Given the description of an element on the screen output the (x, y) to click on. 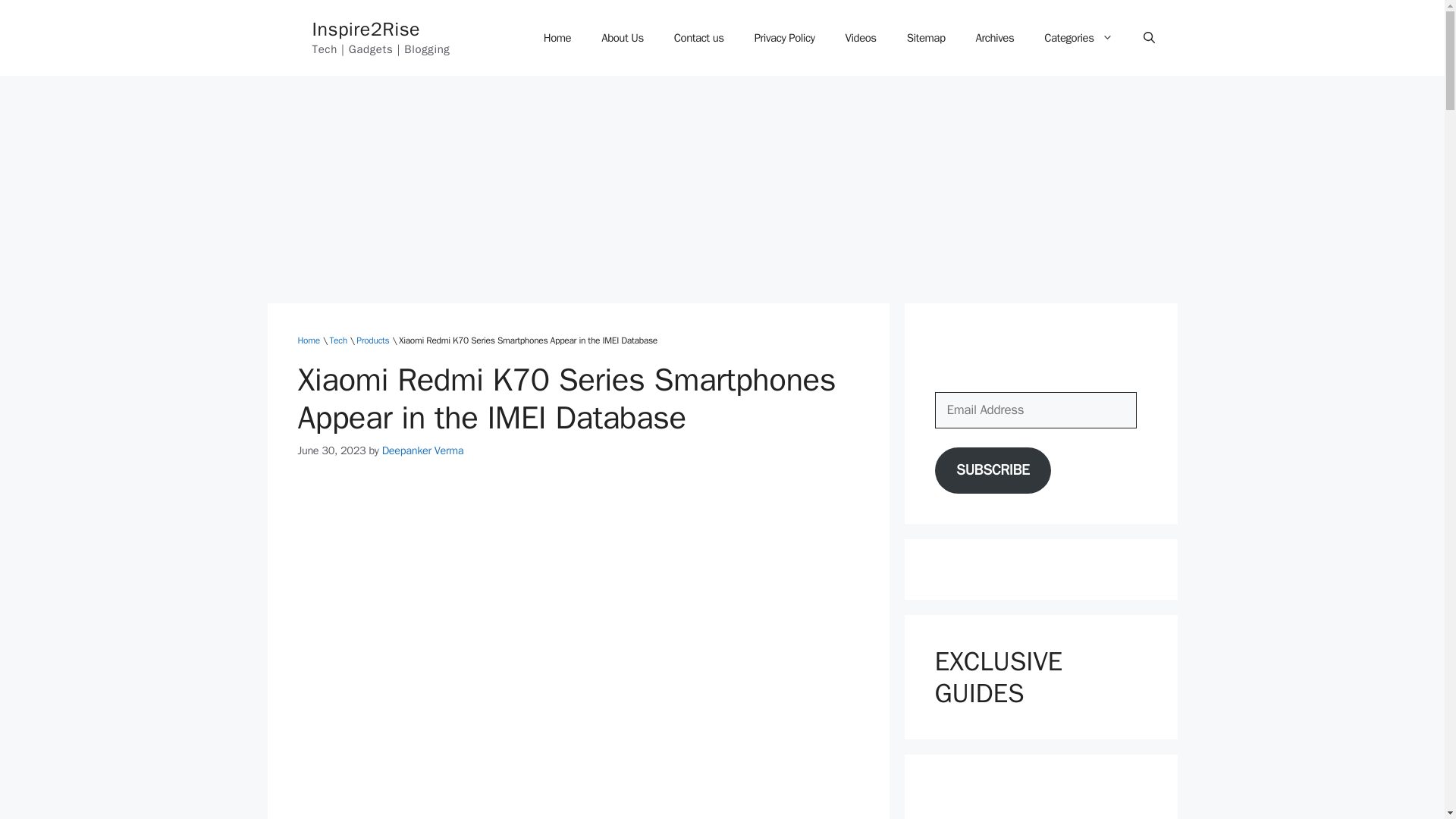
About Inspire2Rise (622, 37)
Contact the Admins (699, 37)
Videos (860, 37)
Categories (1077, 37)
Sitemap (925, 37)
Videos (860, 37)
Inspire2rise (557, 37)
Sitemap (925, 37)
Privacy Policy (784, 37)
About Us (622, 37)
